Given the description of an element on the screen output the (x, y) to click on. 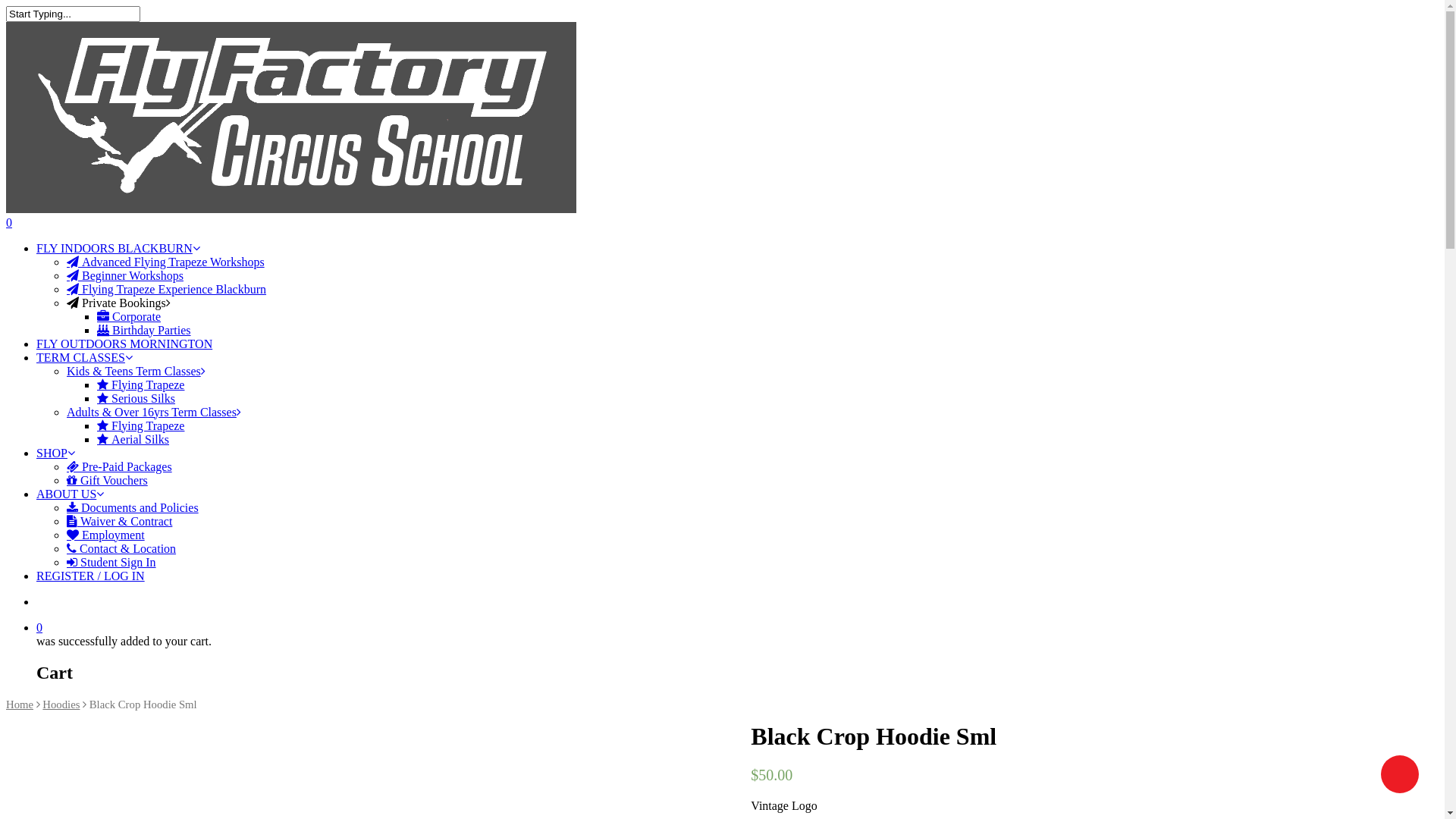
Aerial Silks Element type: text (133, 438)
Employment Element type: text (105, 533)
0 Element type: text (737, 626)
Corporate Element type: text (128, 315)
Adults & Over 16yrs Term Classes Element type: text (153, 410)
Birthday Parties Element type: text (144, 329)
Kids & Teens Term Classes Element type: text (135, 370)
Flying Trapeze Element type: text (140, 383)
Hoodies Element type: text (60, 704)
Gift Vouchers Element type: text (106, 479)
Home Element type: text (19, 704)
Waiver & Contract Element type: text (119, 520)
FLY OUTDOORS MORNINGTON Element type: text (124, 342)
Documents and Policies Element type: text (132, 506)
Pre-Paid Packages Element type: text (119, 465)
Contact & Location Element type: text (120, 547)
Serious Silks Element type: text (136, 397)
Private Bookings Element type: text (118, 301)
Student Sign In Element type: text (111, 561)
ABOUT US Element type: text (69, 492)
Advanced Flying Trapeze Workshops Element type: text (165, 260)
Beginner Workshops Element type: text (124, 274)
0 Element type: text (722, 222)
Flying Trapeze Experience Blackburn Element type: text (166, 288)
REGISTER / LOG IN Element type: text (90, 574)
Flying Trapeze Element type: text (140, 424)
TERM CLASSES Element type: text (84, 356)
SHOP Element type: text (55, 451)
FLY INDOORS BLACKBURN Element type: text (118, 247)
